Given the description of an element on the screen output the (x, y) to click on. 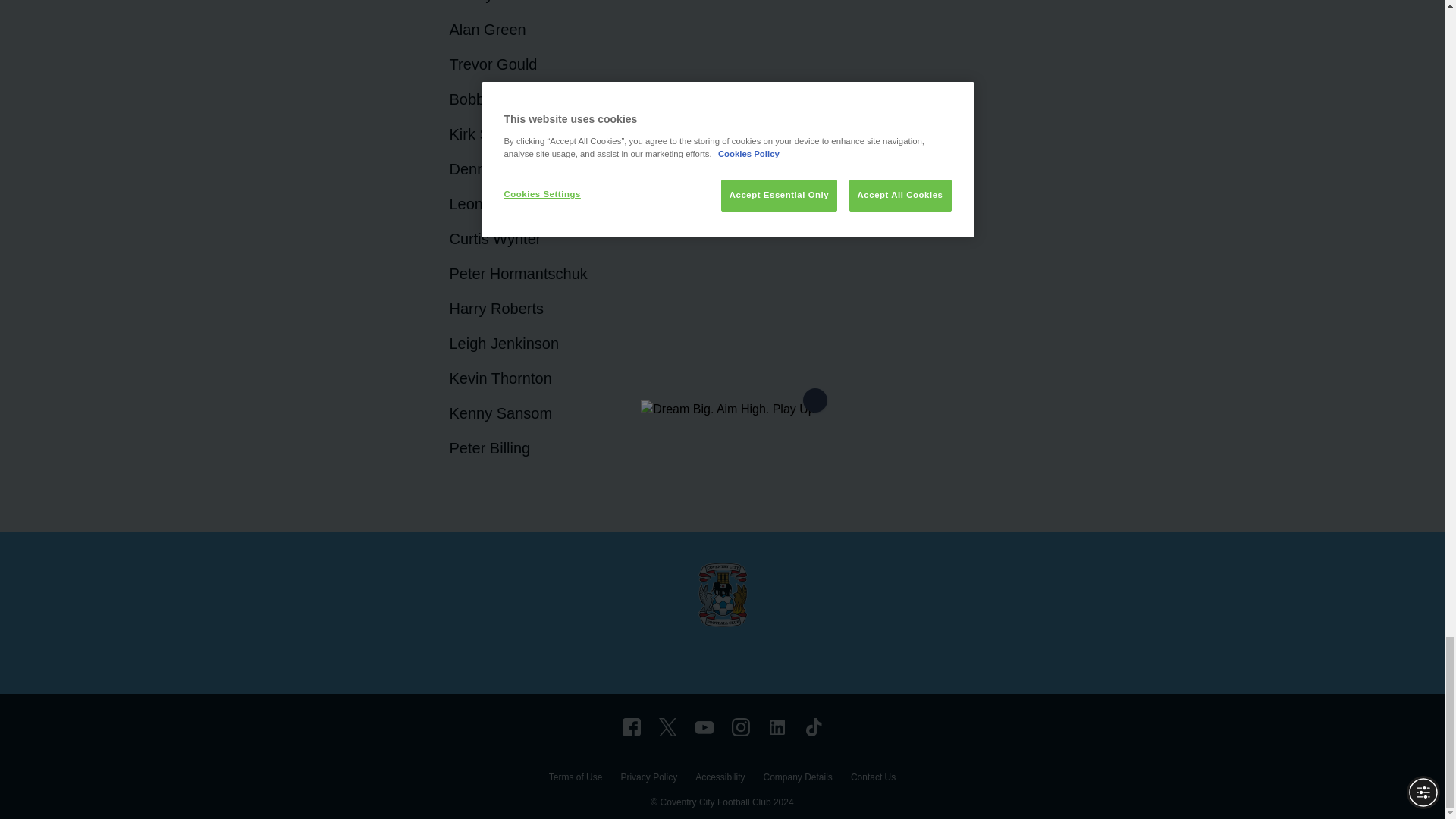
Accessibility (719, 779)
Contact Us (872, 779)
Contact Us (872, 779)
Terms of Use (575, 779)
Coventry City Football Club (776, 727)
Privacy Policy (648, 779)
Company Details (796, 779)
Terms of Use (575, 779)
Company Details (796, 779)
Coventry City FC (630, 727)
Accessibility (719, 779)
Privacy Policy (648, 779)
